Given the description of an element on the screen output the (x, y) to click on. 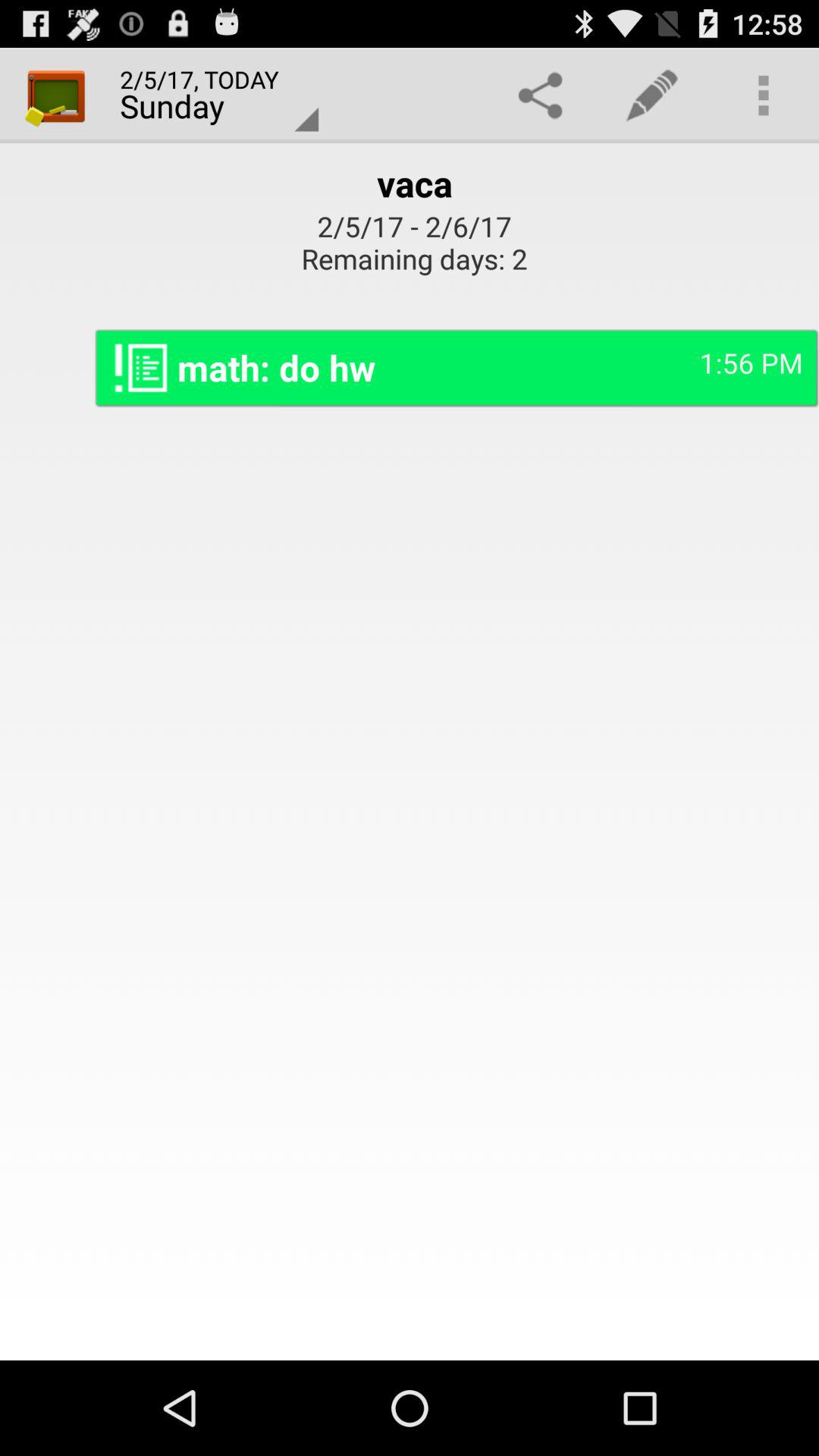
select the logo on the menu bar (55, 95)
select the text to the right of green color icon (211, 95)
select the green color icon on the top left corner (56, 95)
click on the options icon which is at top right corner (763, 95)
